Given the description of an element on the screen output the (x, y) to click on. 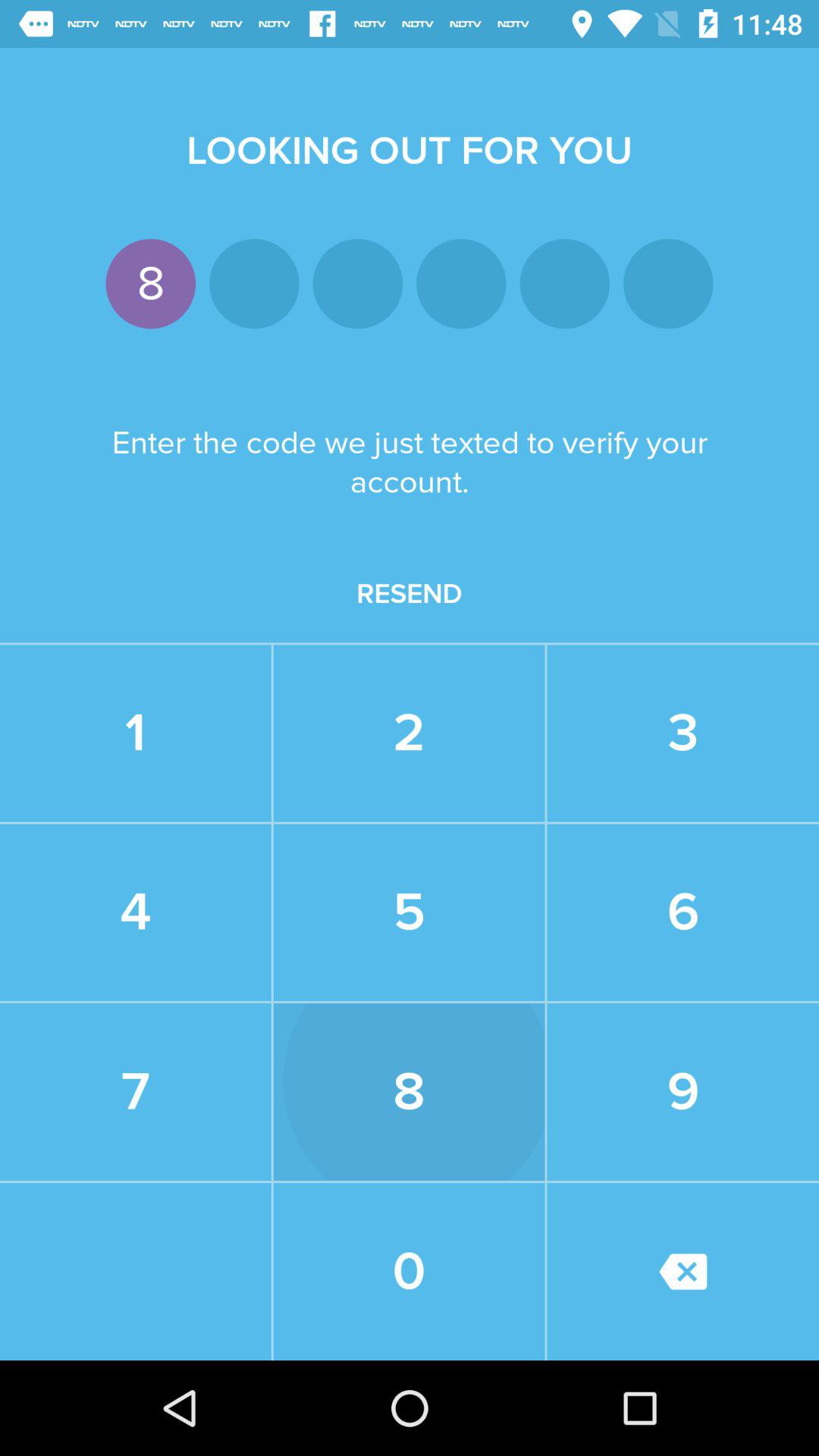
press the 5 icon (408, 912)
